Given the description of an element on the screen output the (x, y) to click on. 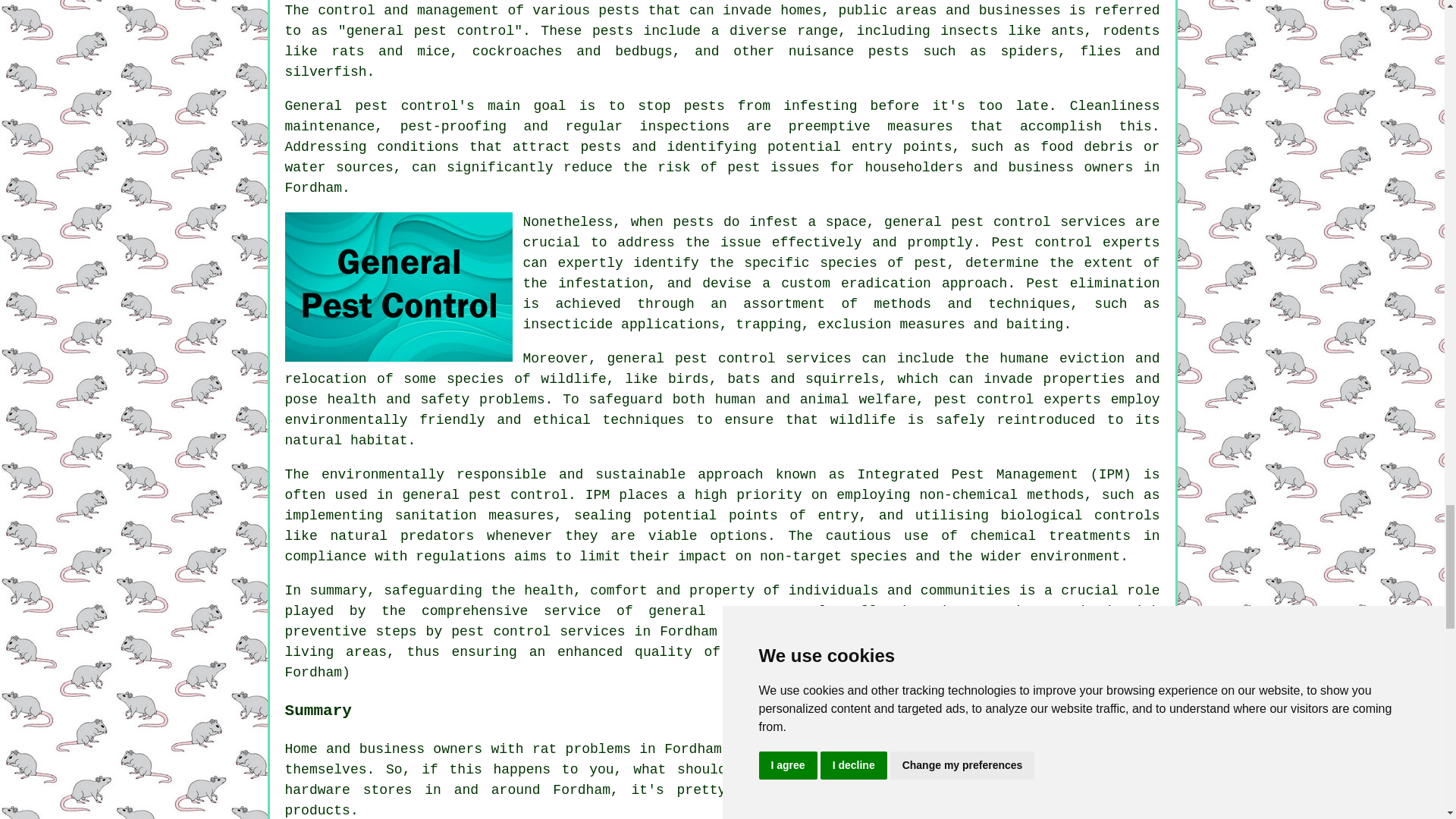
general pest control (430, 30)
General Pest Control Fordham (398, 286)
pest control (773, 611)
pest control services (1037, 222)
